Given the description of an element on the screen output the (x, y) to click on. 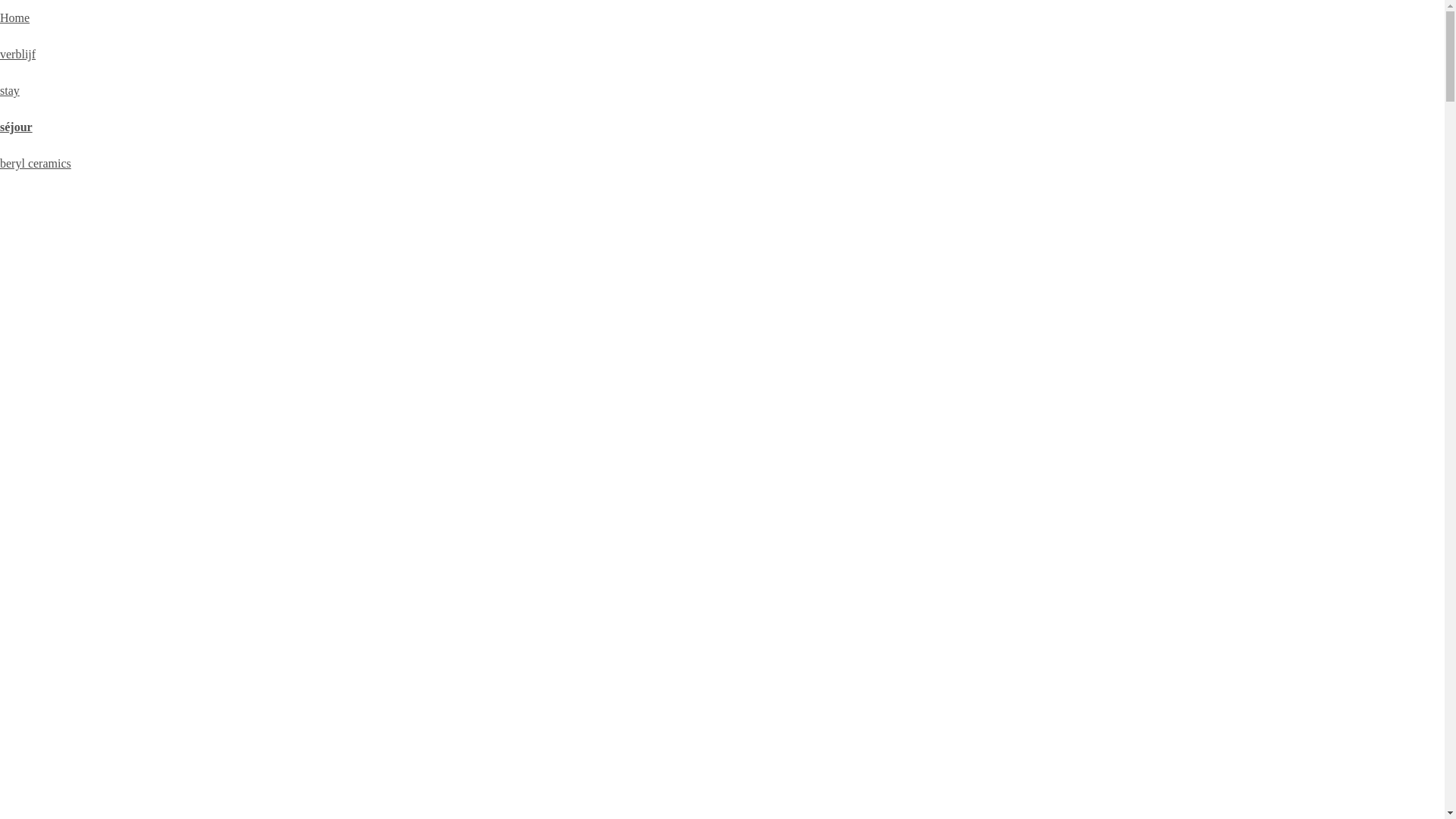
Home Element type: text (14, 17)
stay Element type: text (9, 90)
beryl ceramics Element type: text (35, 162)
verblijf Element type: text (17, 53)
